Given the description of an element on the screen output the (x, y) to click on. 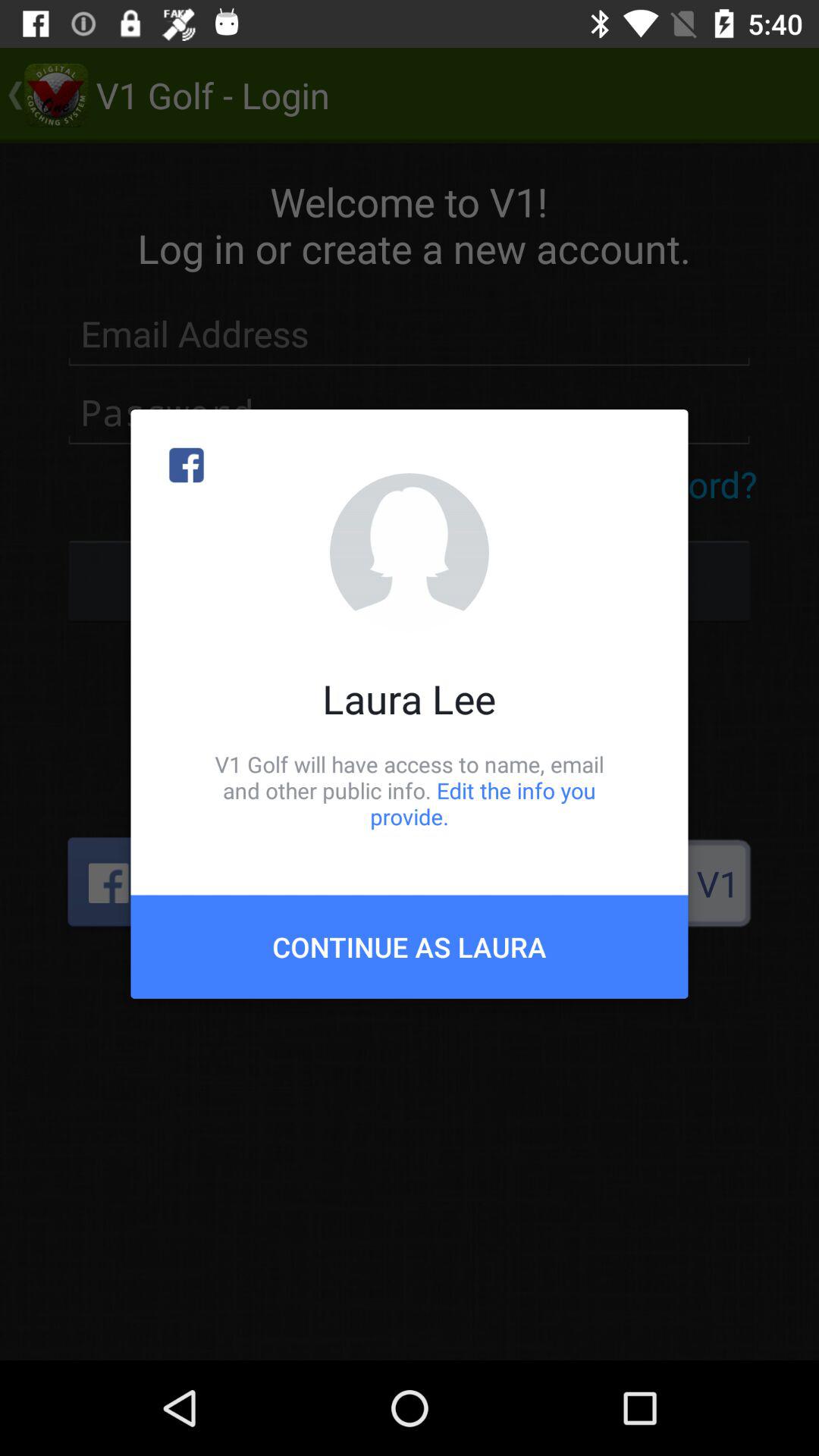
turn on the icon below the v1 golf will item (409, 946)
